Given the description of an element on the screen output the (x, y) to click on. 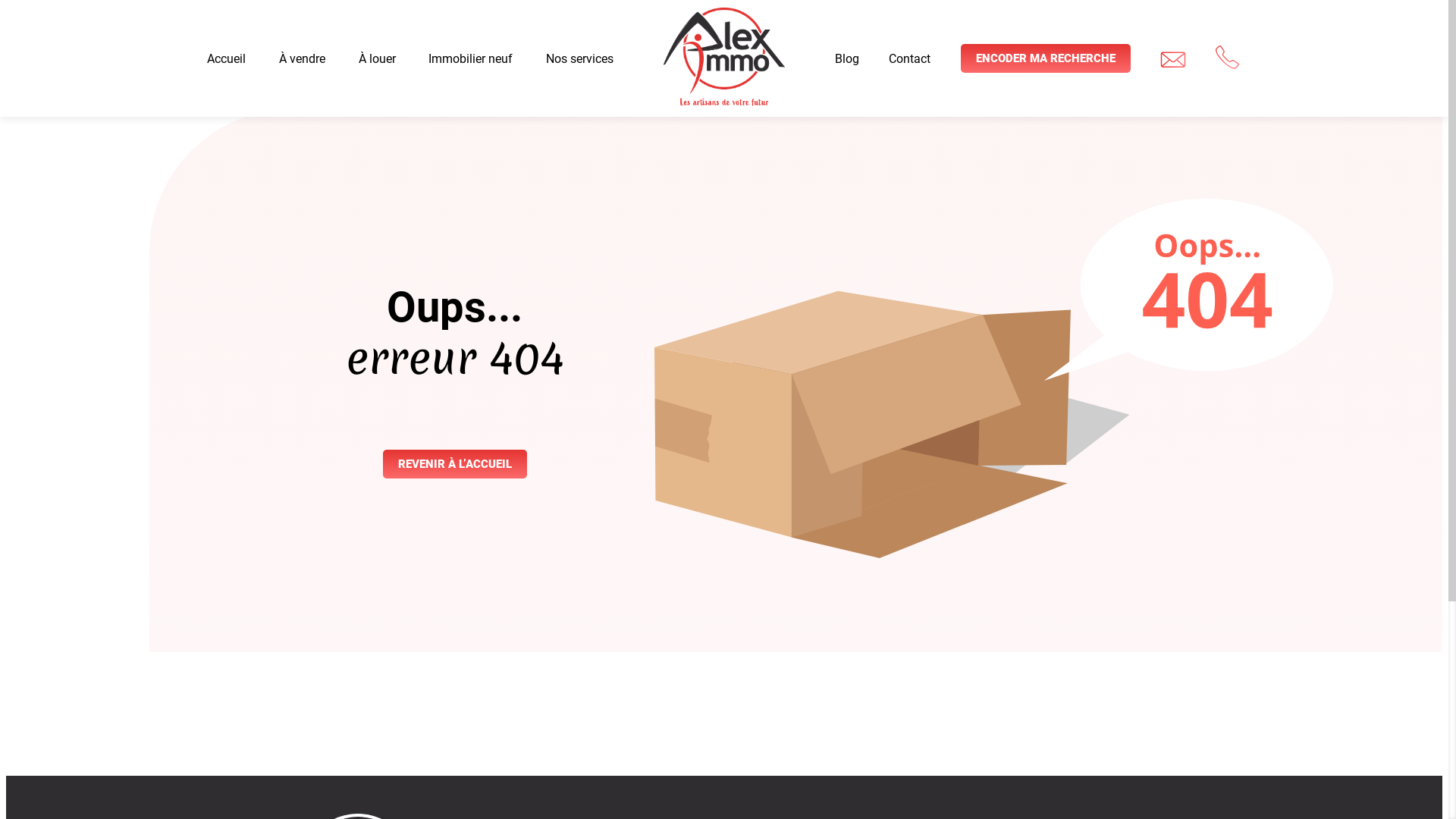
Accueil Element type: text (226, 58)
Immobilier neuf Element type: text (470, 58)
Contact Element type: text (909, 58)
Blog Element type: text (846, 58)
Nos services Element type: text (579, 58)
ENCODER MA RECHERCHE Element type: text (1044, 57)
